Given the description of an element on the screen output the (x, y) to click on. 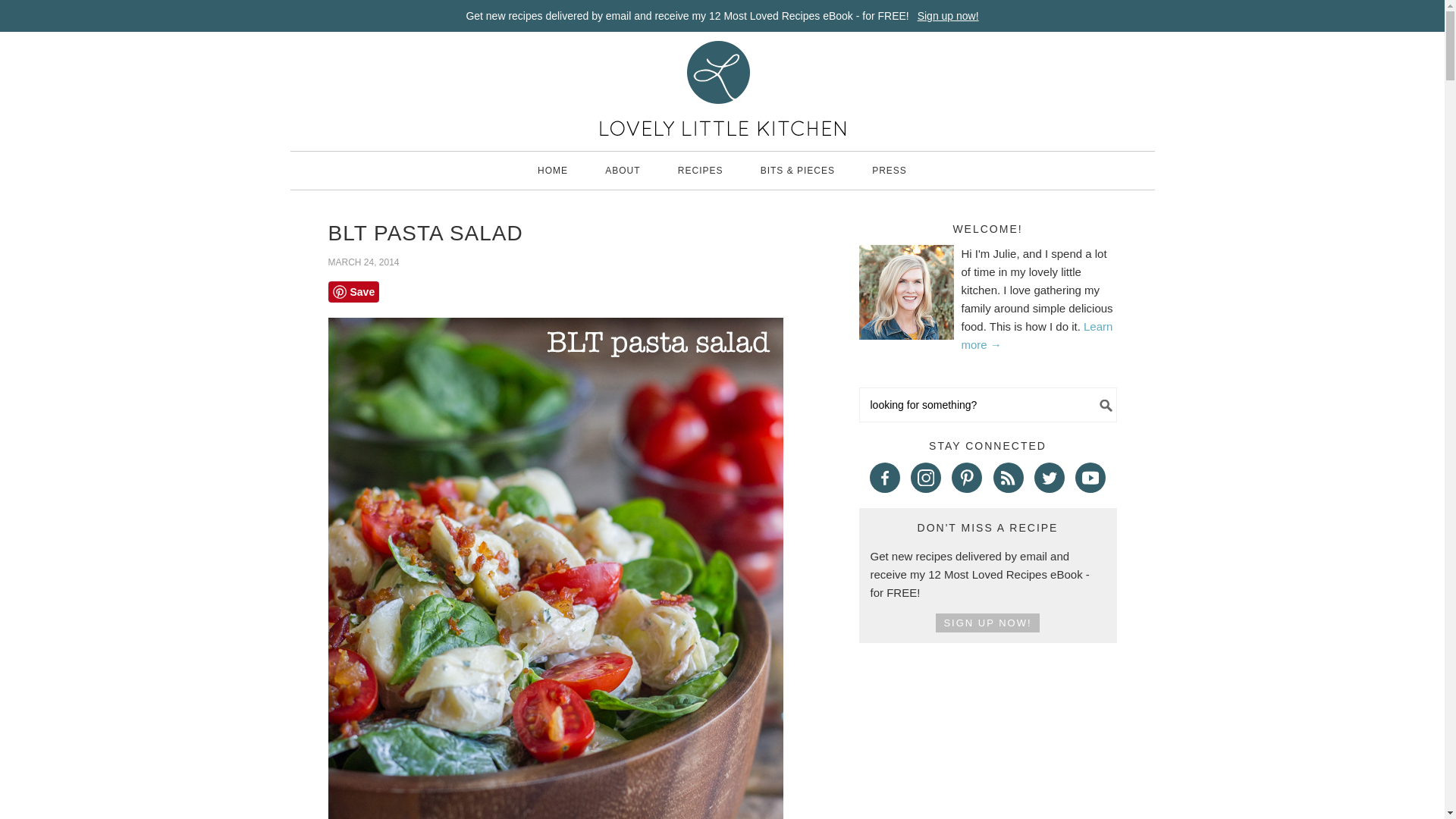
LOVELY LITTLE KITCHEN (721, 88)
ABOUT (622, 170)
RECIPES (700, 170)
HOME (553, 170)
